Given the description of an element on the screen output the (x, y) to click on. 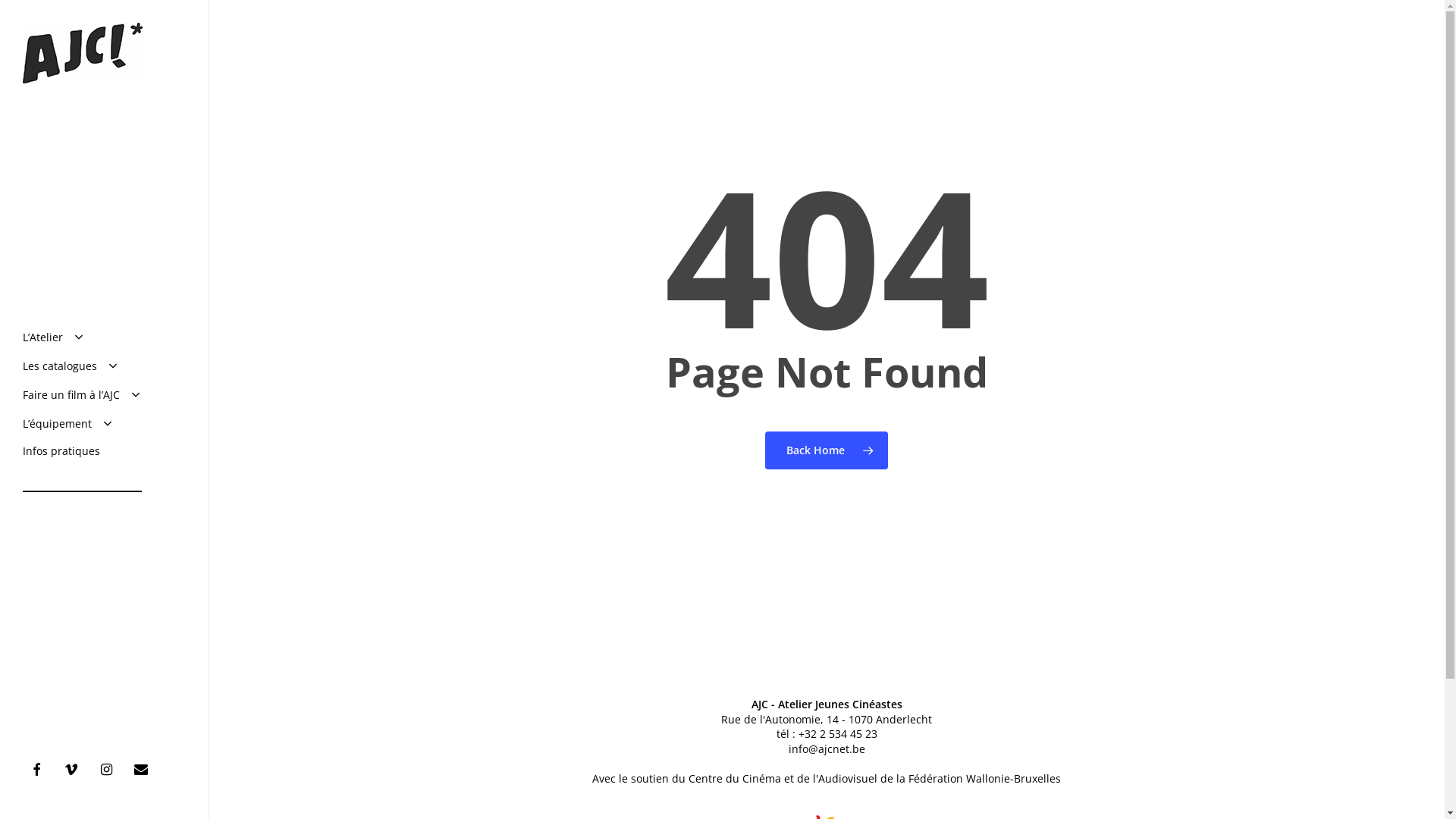
vimeo Element type: text (74, 768)
Infos pratiques Element type: text (61, 451)
email Element type: text (144, 768)
Back Home Element type: text (826, 449)
Les catalogues Element type: text (70, 365)
instagram Element type: text (109, 768)
facebook Element type: text (39, 768)
